Given the description of an element on the screen output the (x, y) to click on. 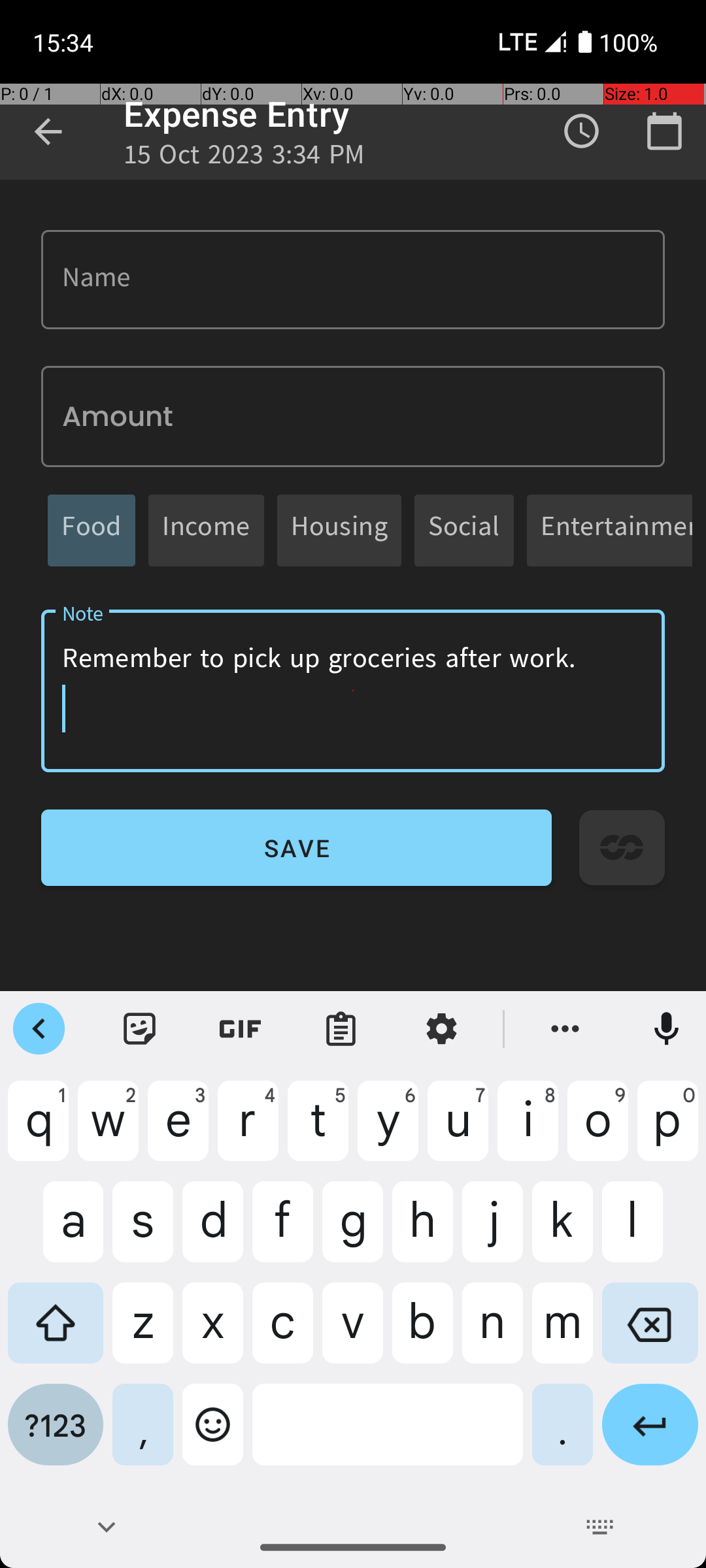
Remember to pick up groceries after work.
 Element type: android.widget.EditText (352, 690)
